Given the description of an element on the screen output the (x, y) to click on. 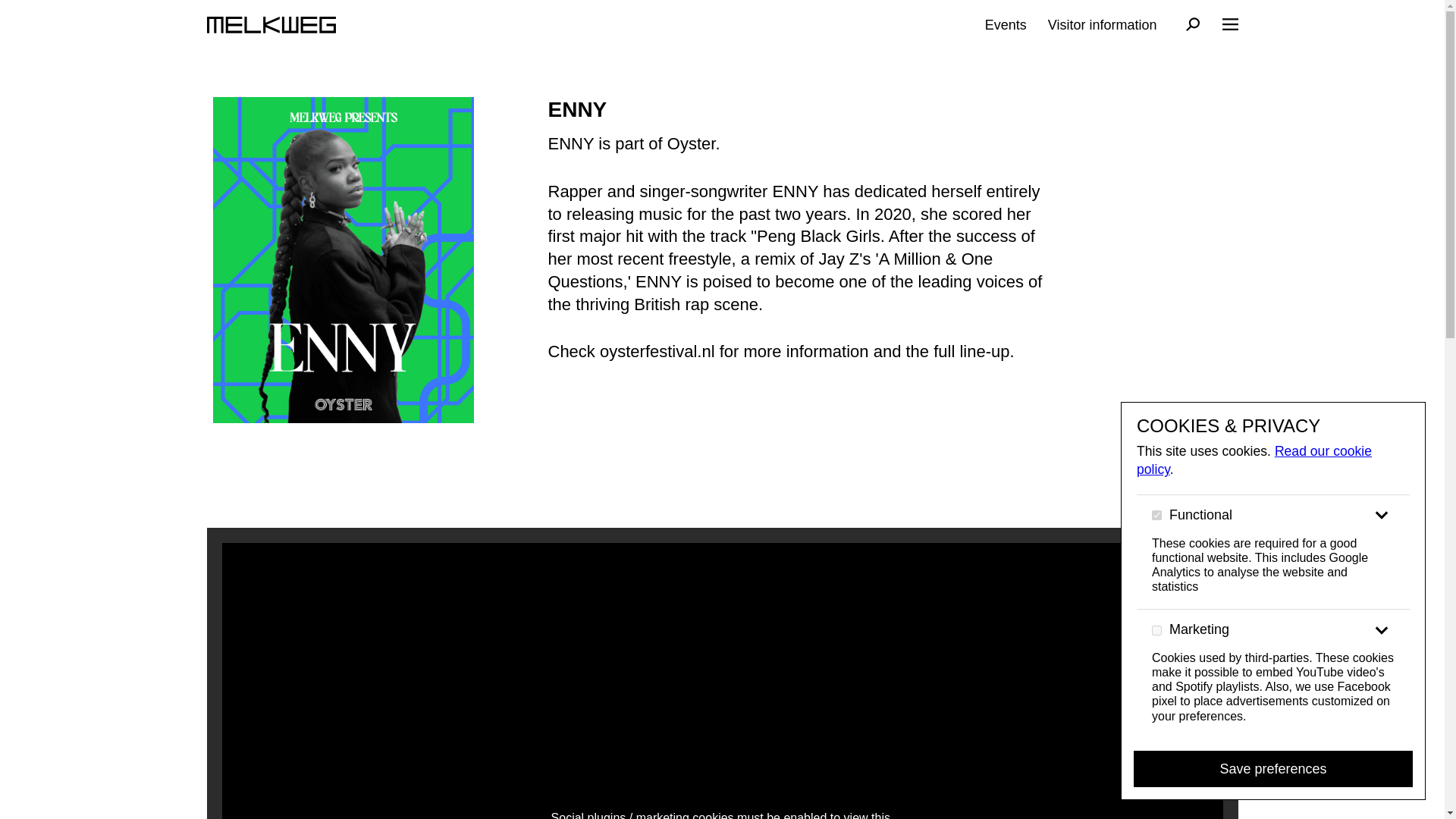
Open menu (1228, 24)
Visitor information (1102, 24)
Events (1005, 24)
Open search form (1192, 25)
Home (270, 24)
